Given the description of an element on the screen output the (x, y) to click on. 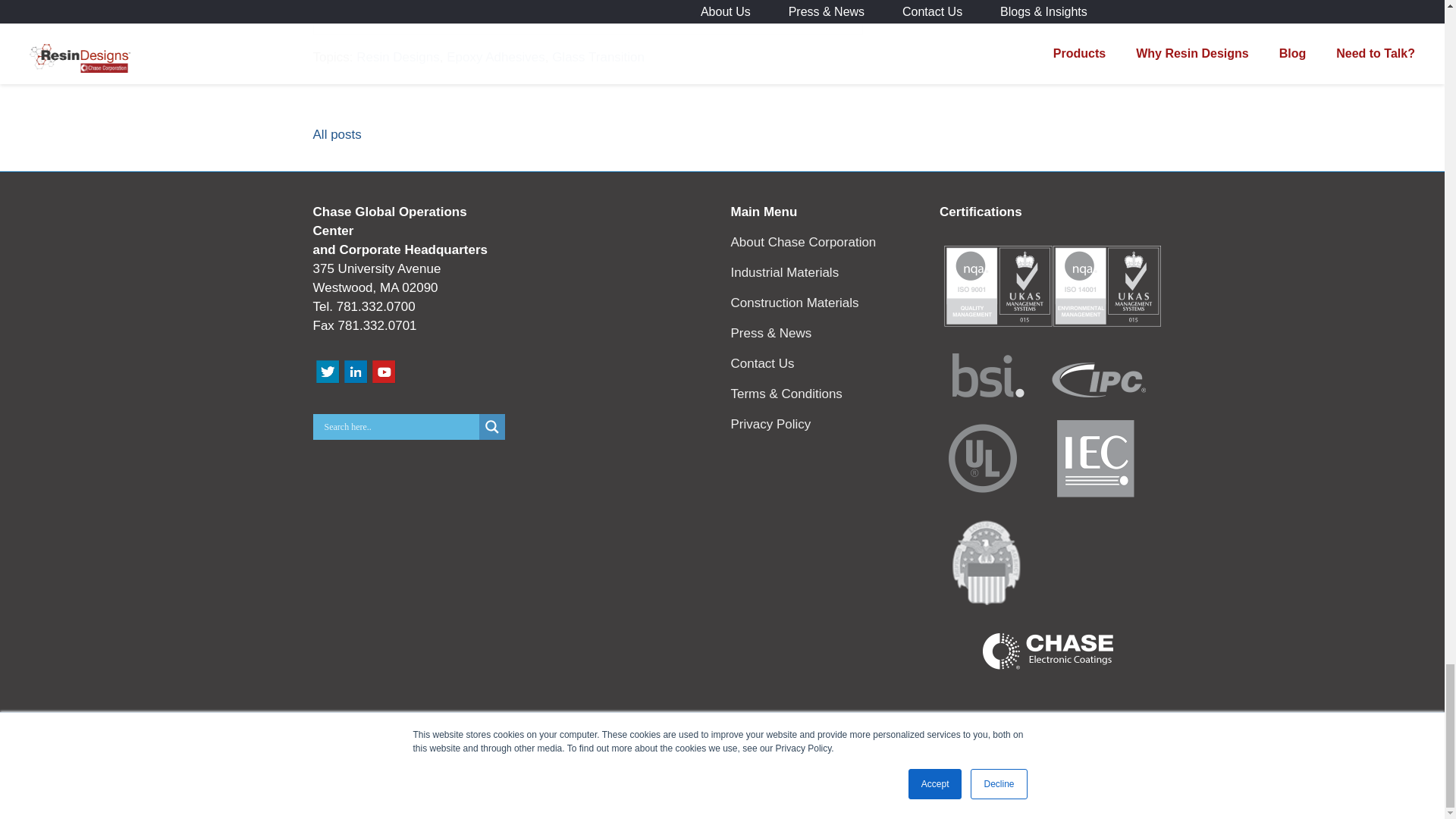
LinkedIn (753, 793)
Twitter (711, 793)
Facebook (690, 793)
YouTube (733, 793)
